Given the description of an element on the screen output the (x, y) to click on. 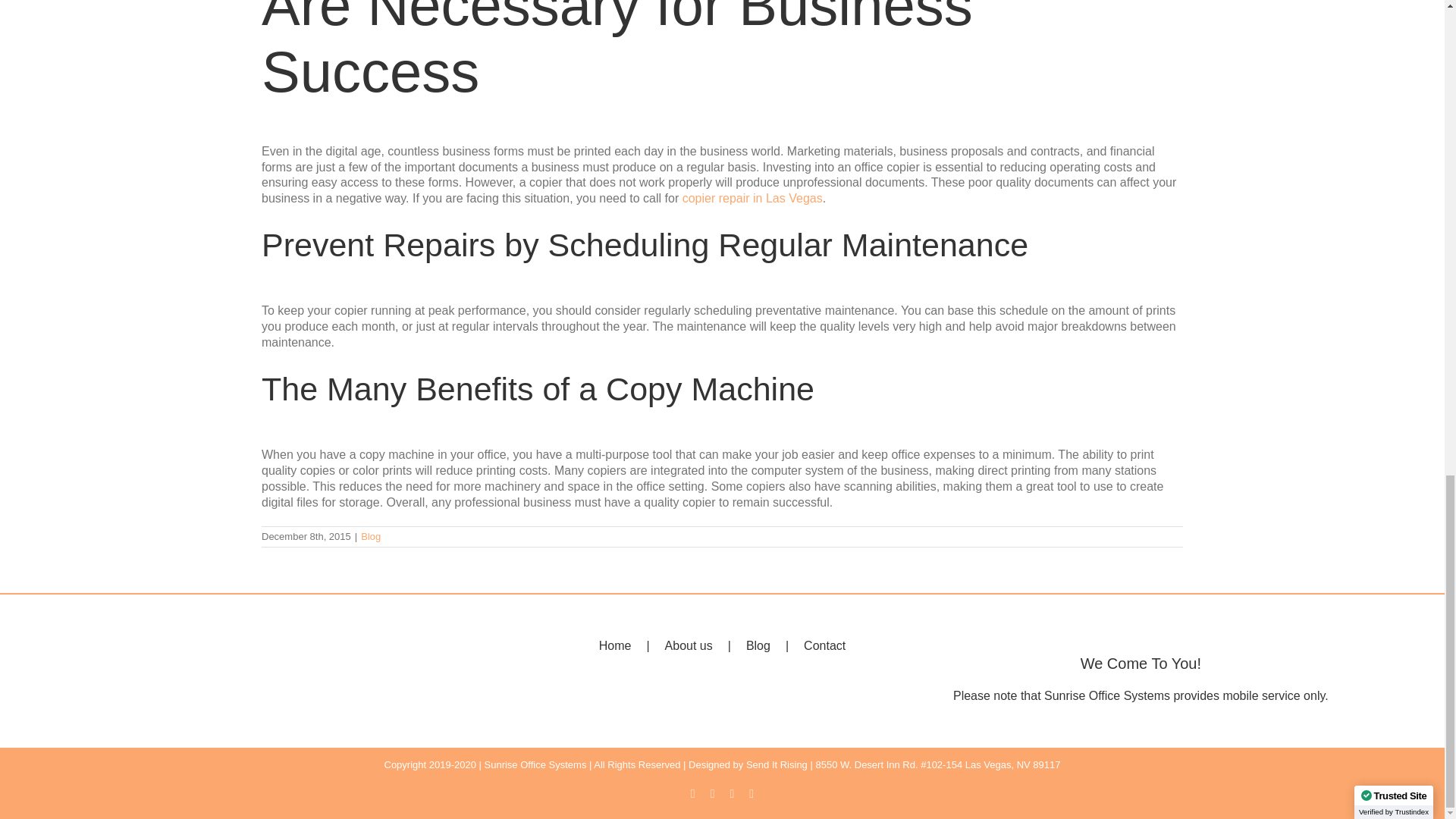
Send It Rising (776, 763)
About us (705, 646)
copier repair in Las Vegas (752, 197)
Contact (824, 646)
Blog (774, 646)
Home (631, 646)
Blog (370, 536)
